Given the description of an element on the screen output the (x, y) to click on. 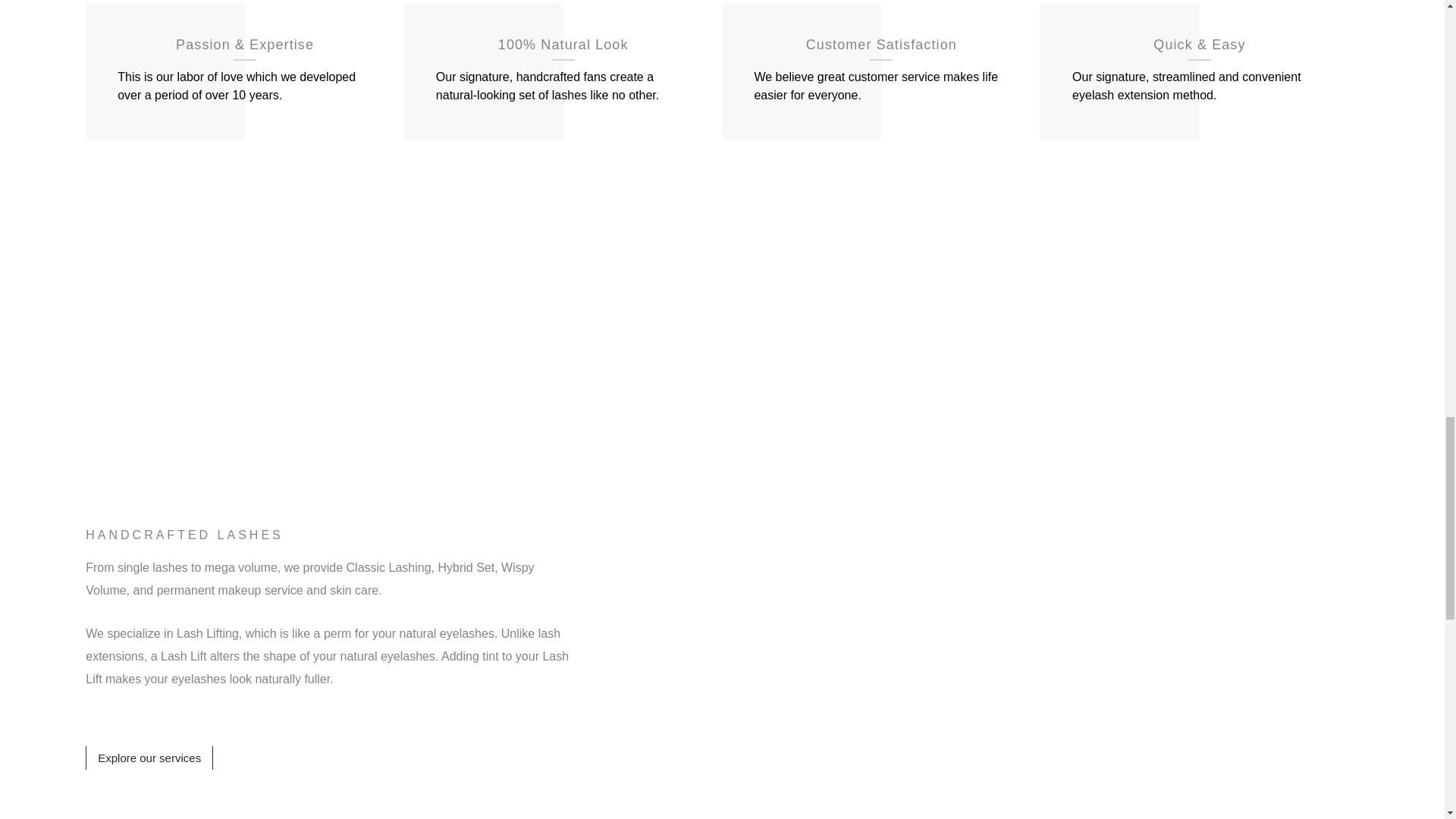
Explore our services (148, 757)
